Given the description of an element on the screen output the (x, y) to click on. 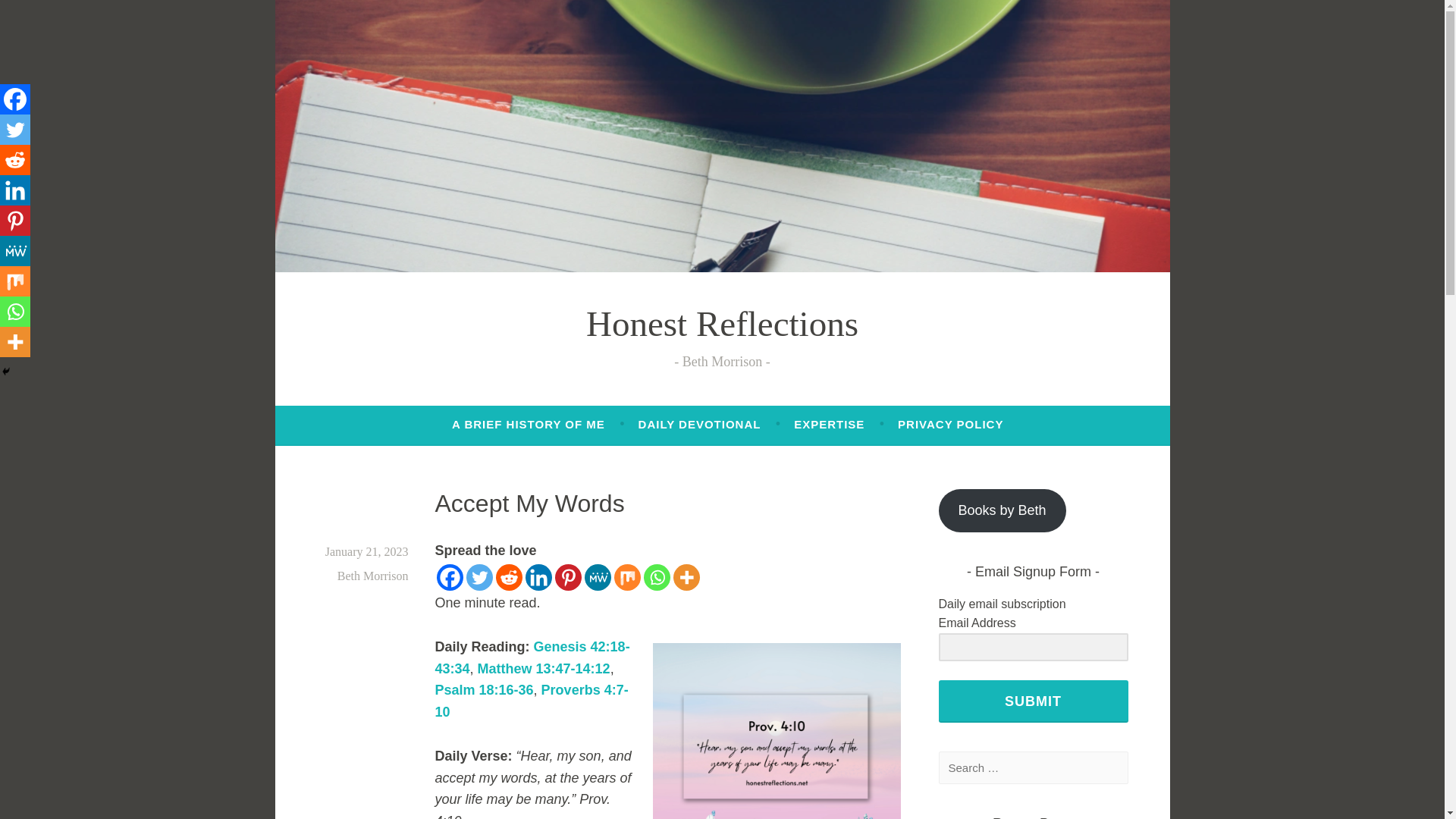
Search (37, 15)
Honest Reflections (722, 323)
Twitter (15, 129)
Reddit (509, 577)
January 21, 2023 (366, 551)
Genesis 42:18-43:34 (532, 657)
A BRIEF HISTORY OF ME (528, 424)
Proverbs 4:7-10 (531, 700)
Mix (627, 577)
Facebook (449, 577)
